Given the description of an element on the screen output the (x, y) to click on. 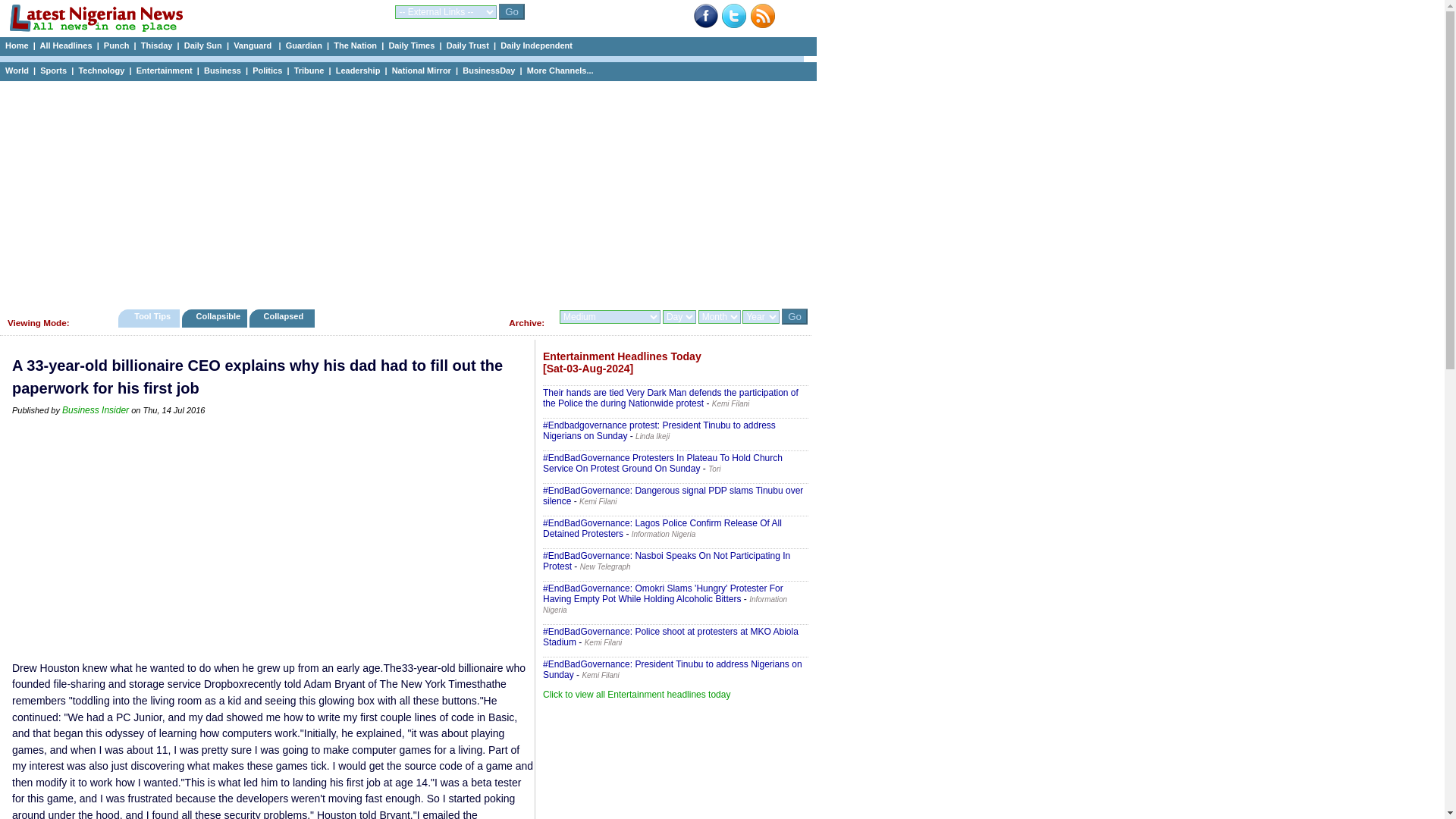
Go (511, 11)
Daily Times (410, 44)
BusinessDay (489, 70)
Linda Ikeji (651, 436)
World (17, 70)
RSS Feed for this page: allnews headlines (762, 25)
More Channels... (560, 70)
Tori (713, 469)
Vanguard (252, 44)
The Nation (355, 44)
Daily Trust (467, 44)
Thisday (157, 44)
National Mirror (421, 70)
Punch (116, 44)
